Given the description of an element on the screen output the (x, y) to click on. 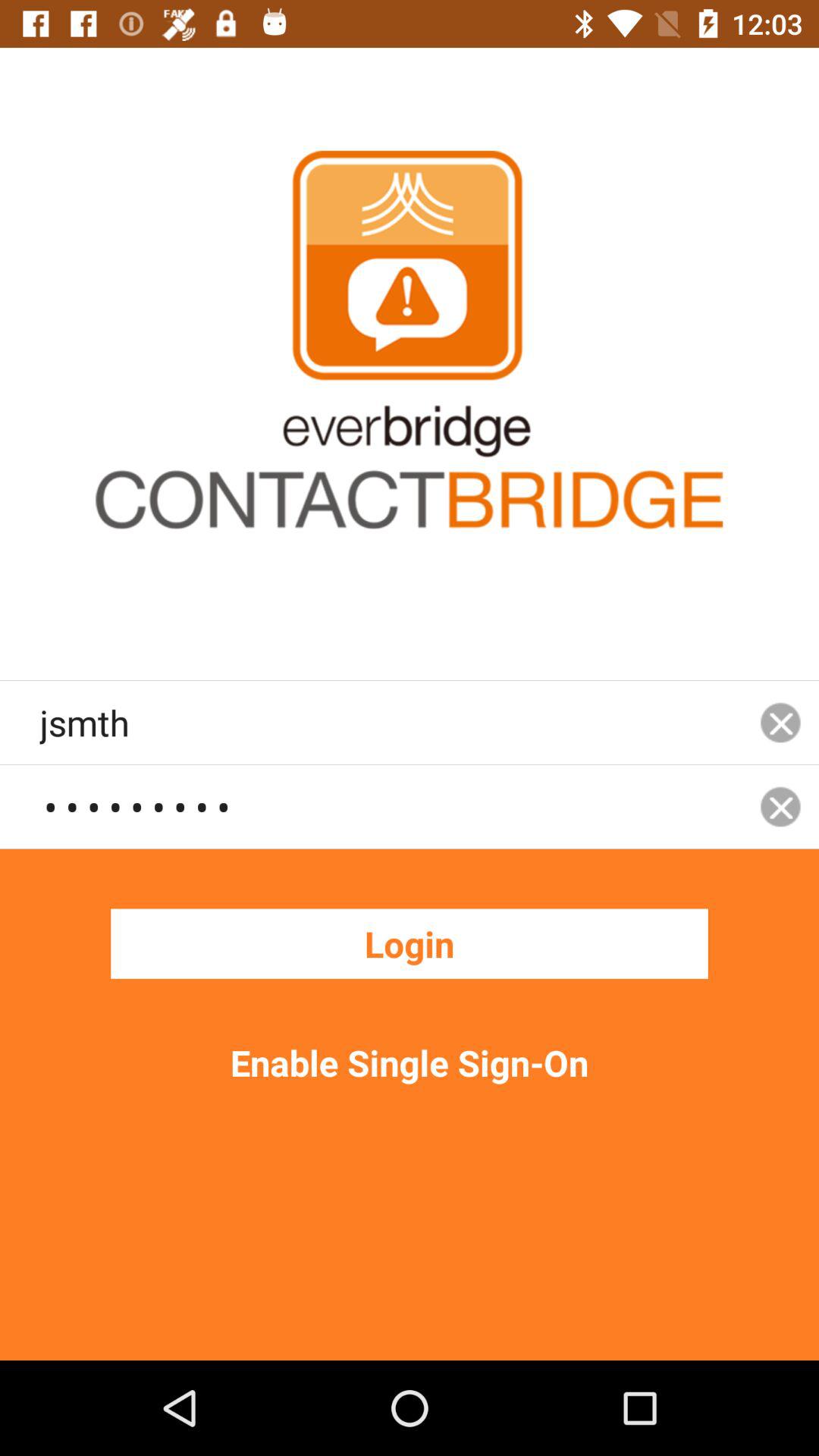
select the crowd3116 (390, 806)
